Given the description of an element on the screen output the (x, y) to click on. 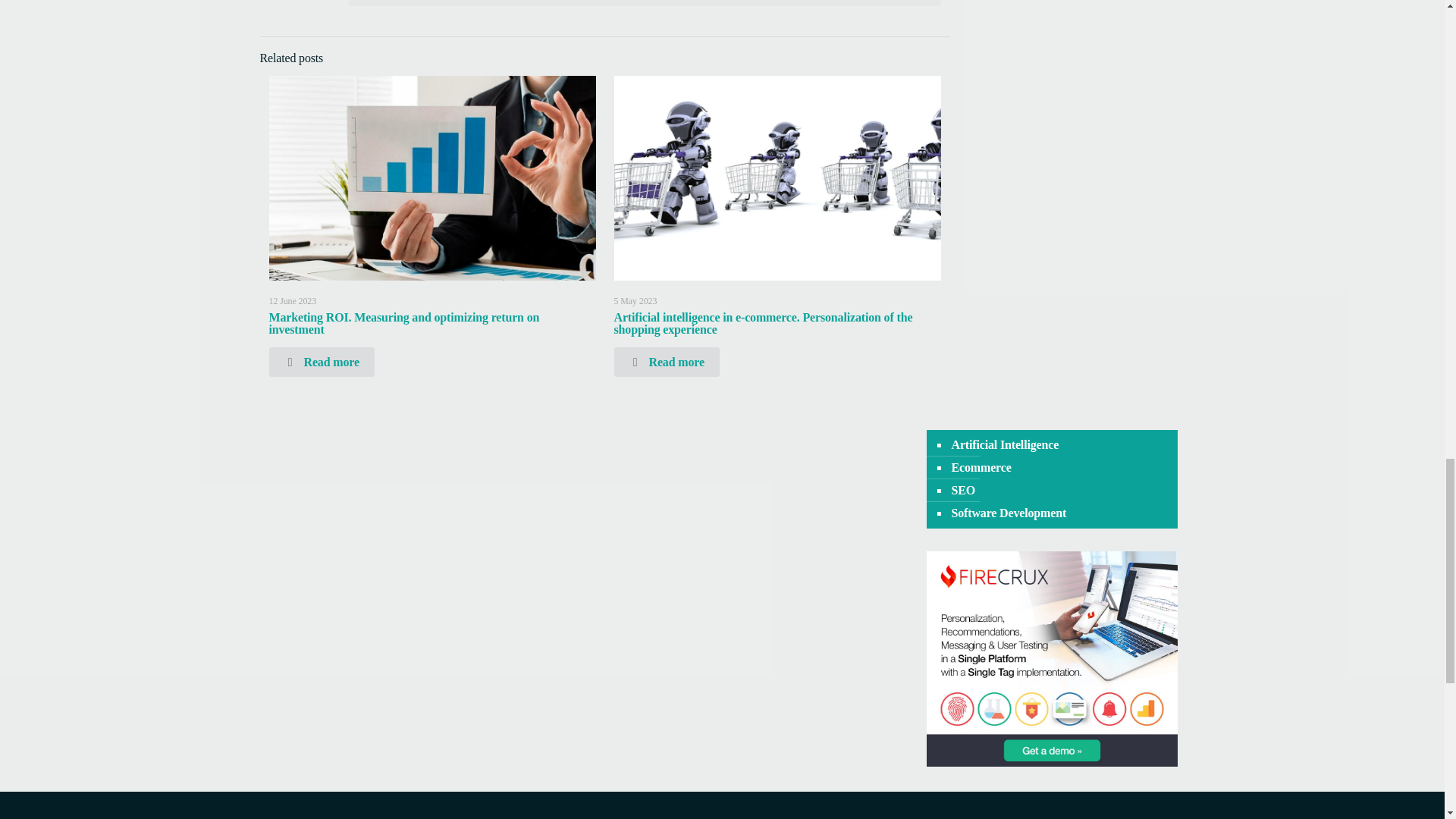
Ecommerce (980, 467)
Firecrux - AI Engine (1051, 762)
SEO (962, 490)
Read more (666, 361)
Marketing ROI. Measuring and optimizing return on investment (402, 323)
Artificial Intelligence (1004, 445)
Read more (320, 361)
